Given the description of an element on the screen output the (x, y) to click on. 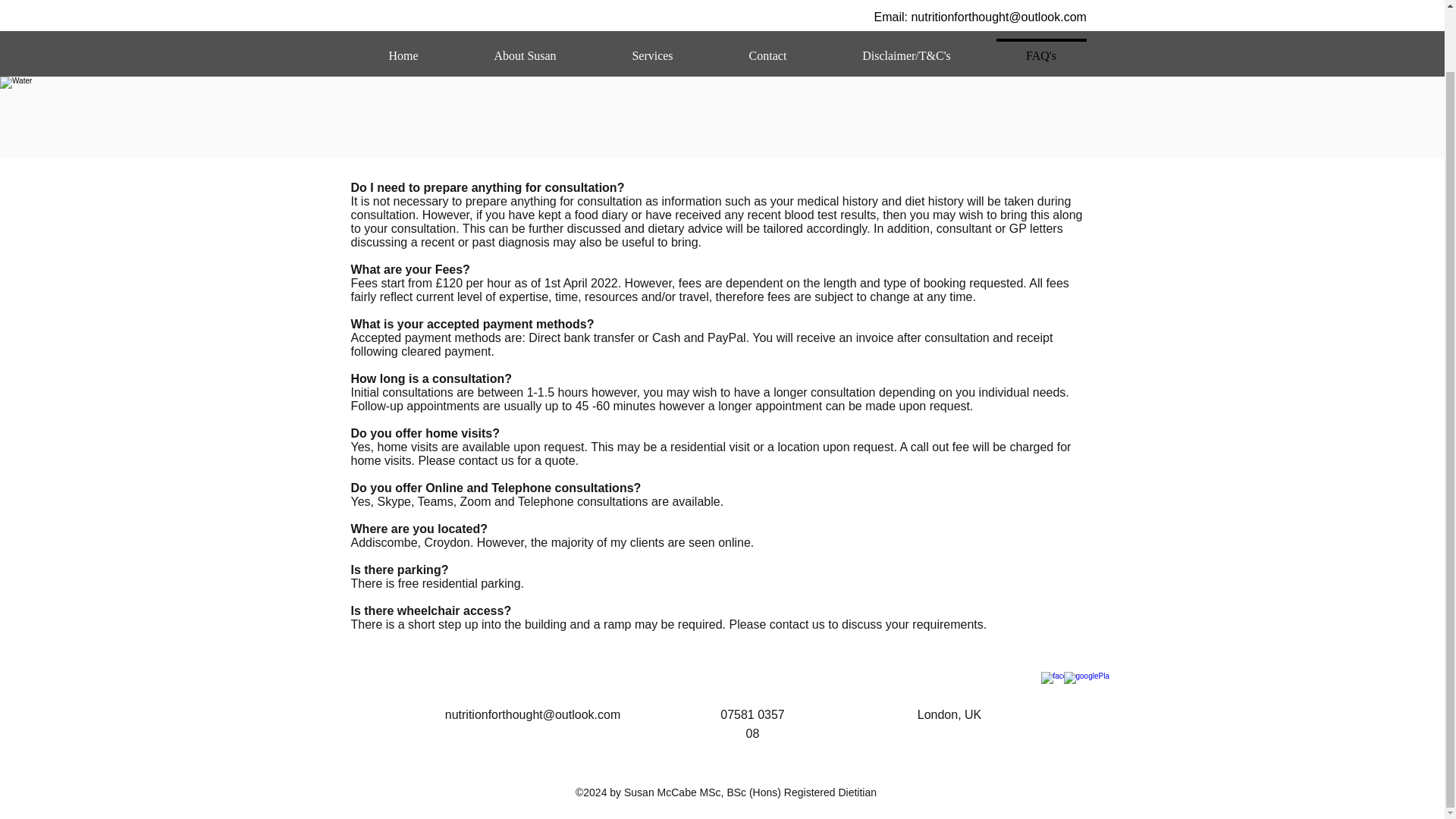
FAQ's (1041, 48)
07581 0357 08 (752, 724)
Services (652, 48)
Home (402, 48)
Contact (768, 48)
About Susan (525, 48)
